Given the description of an element on the screen output the (x, y) to click on. 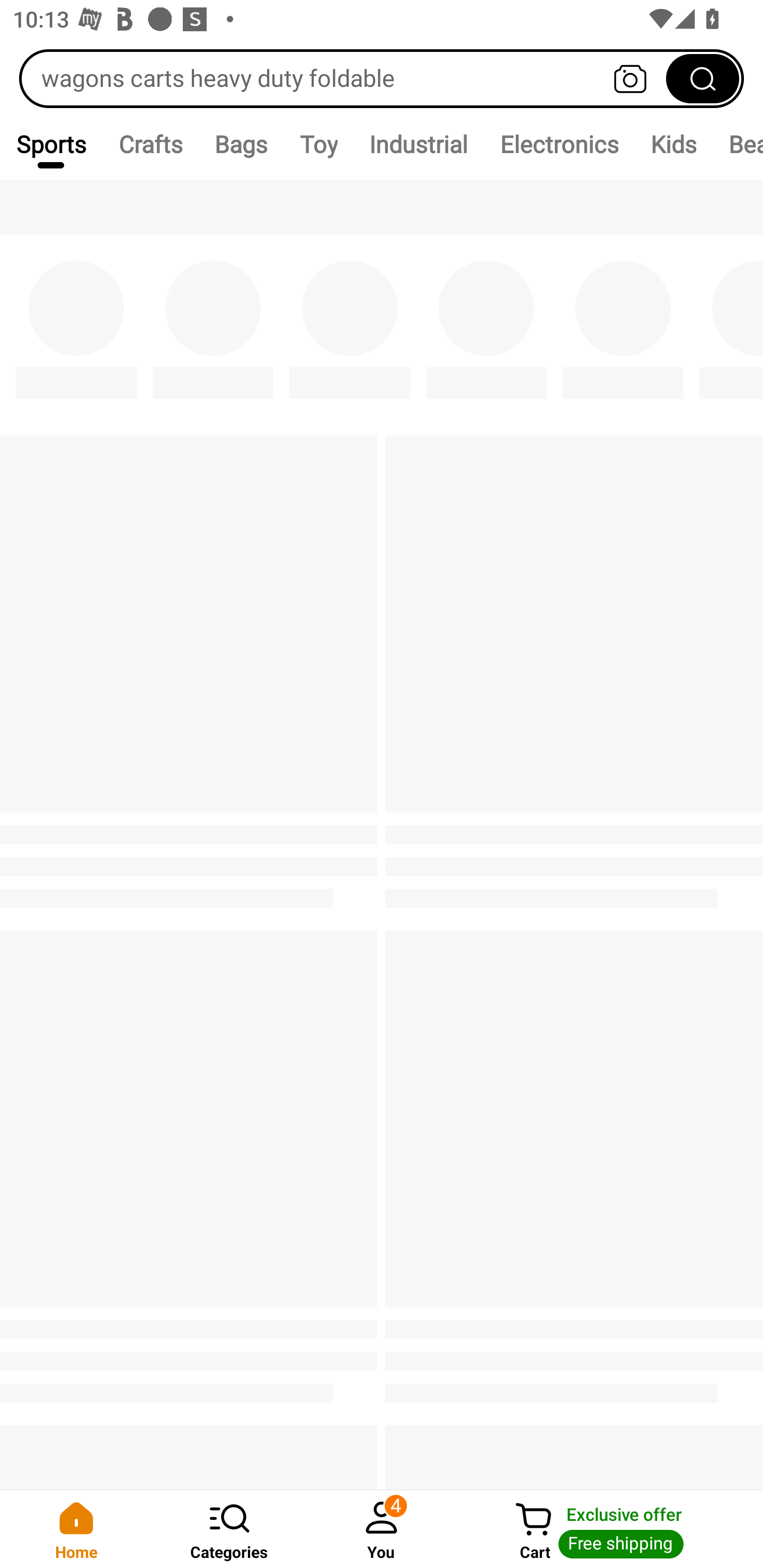
wagons carts heavy duty foldable (381, 78)
Sports (51, 144)
Crafts (150, 144)
Bags (240, 144)
Toy (318, 144)
Industrial (418, 144)
Electronics (558, 144)
Kids (672, 144)
Home (76, 1528)
Categories (228, 1528)
You 4 You (381, 1528)
Cart Cart Exclusive offer (610, 1528)
